Given the description of an element on the screen output the (x, y) to click on. 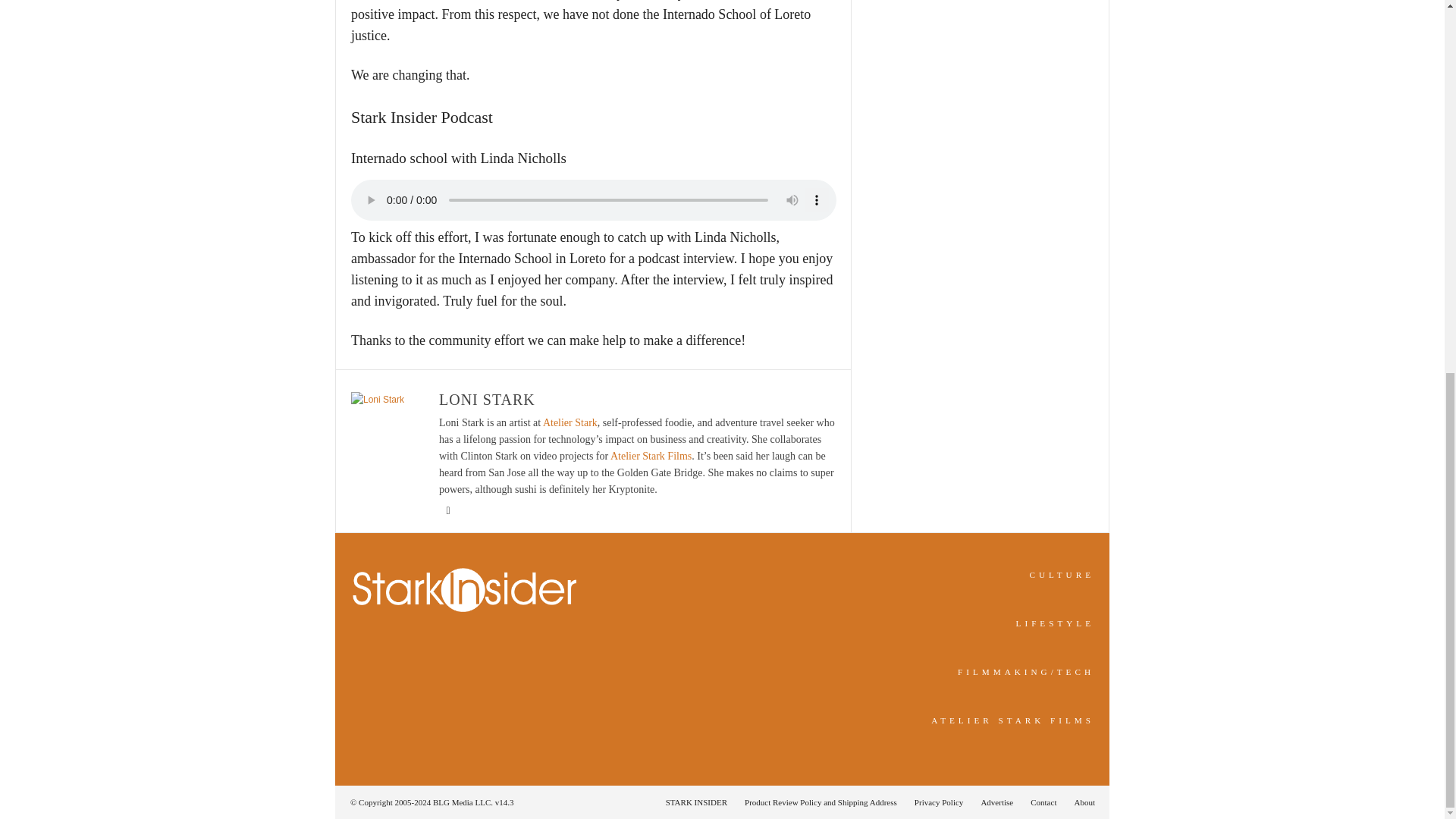
Privacy Policy (939, 801)
Atelier Stark Films (650, 455)
Instagram (448, 511)
Advertise (996, 801)
LIFESTYLE (1055, 623)
CULTURE (1061, 574)
Contact (1043, 801)
Atelier Stark (569, 422)
About (1079, 801)
STARK INSIDER (696, 801)
LONI STARK (487, 399)
ATELIER STARK FILMS (1012, 719)
Product Review Policy and Shipping Address (820, 801)
